Given the description of an element on the screen output the (x, y) to click on. 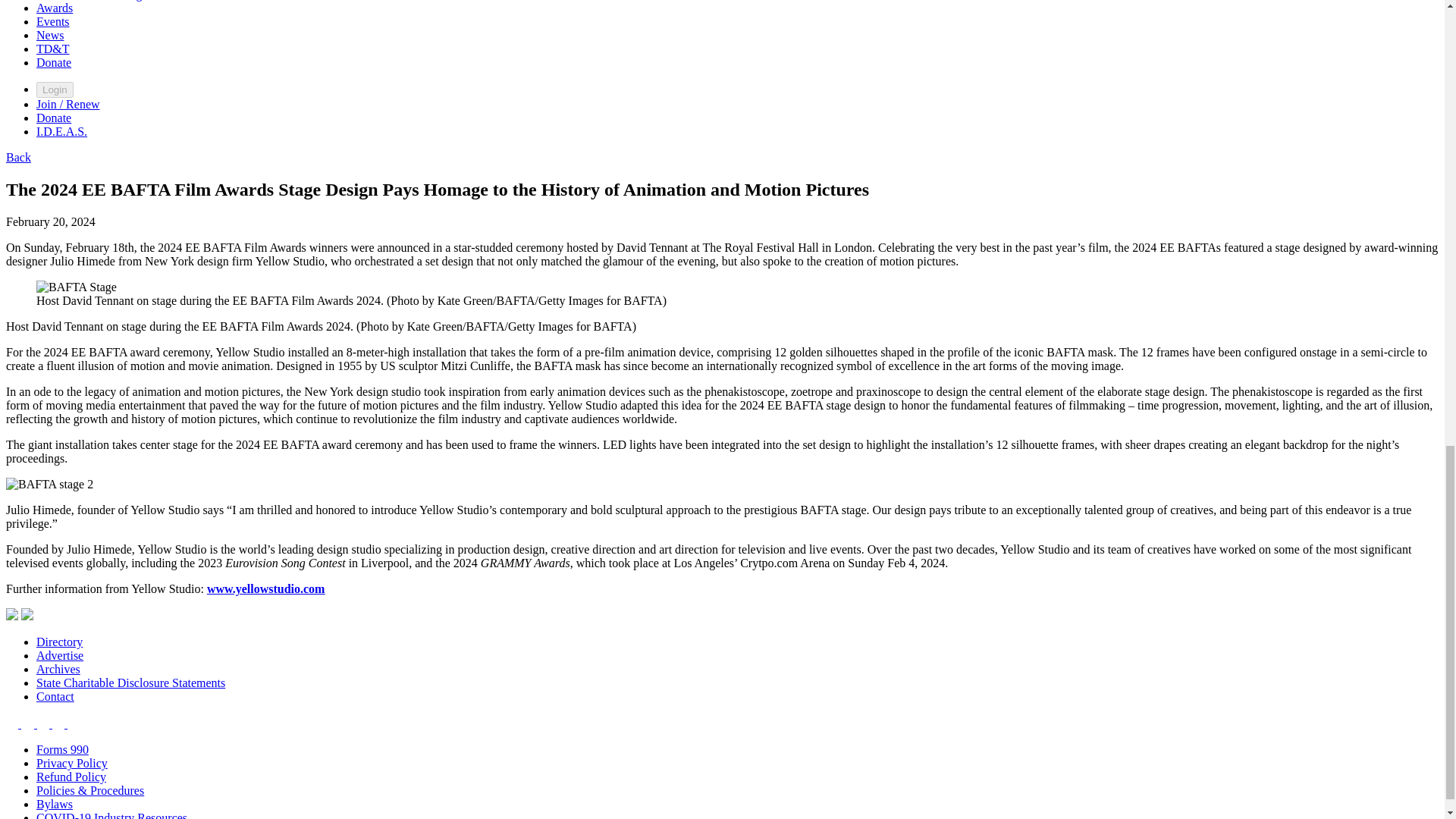
Login (55, 89)
